Given the description of an element on the screen output the (x, y) to click on. 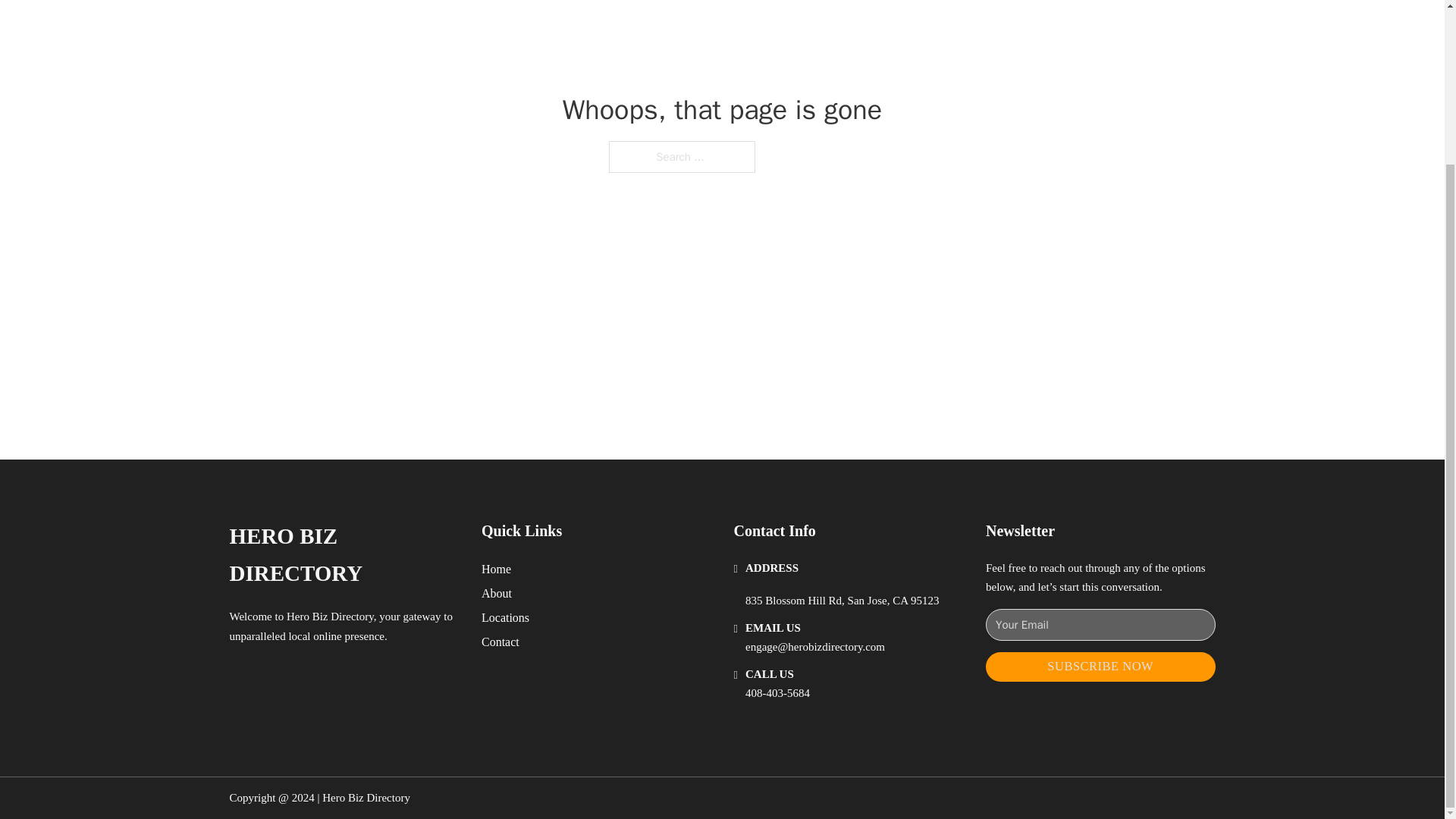
Home (496, 568)
Contact (500, 641)
Locations (505, 617)
About (496, 593)
SUBSCRIBE NOW (1100, 666)
HERO BIZ DIRECTORY (343, 554)
408-403-5684 (777, 693)
